Given the description of an element on the screen output the (x, y) to click on. 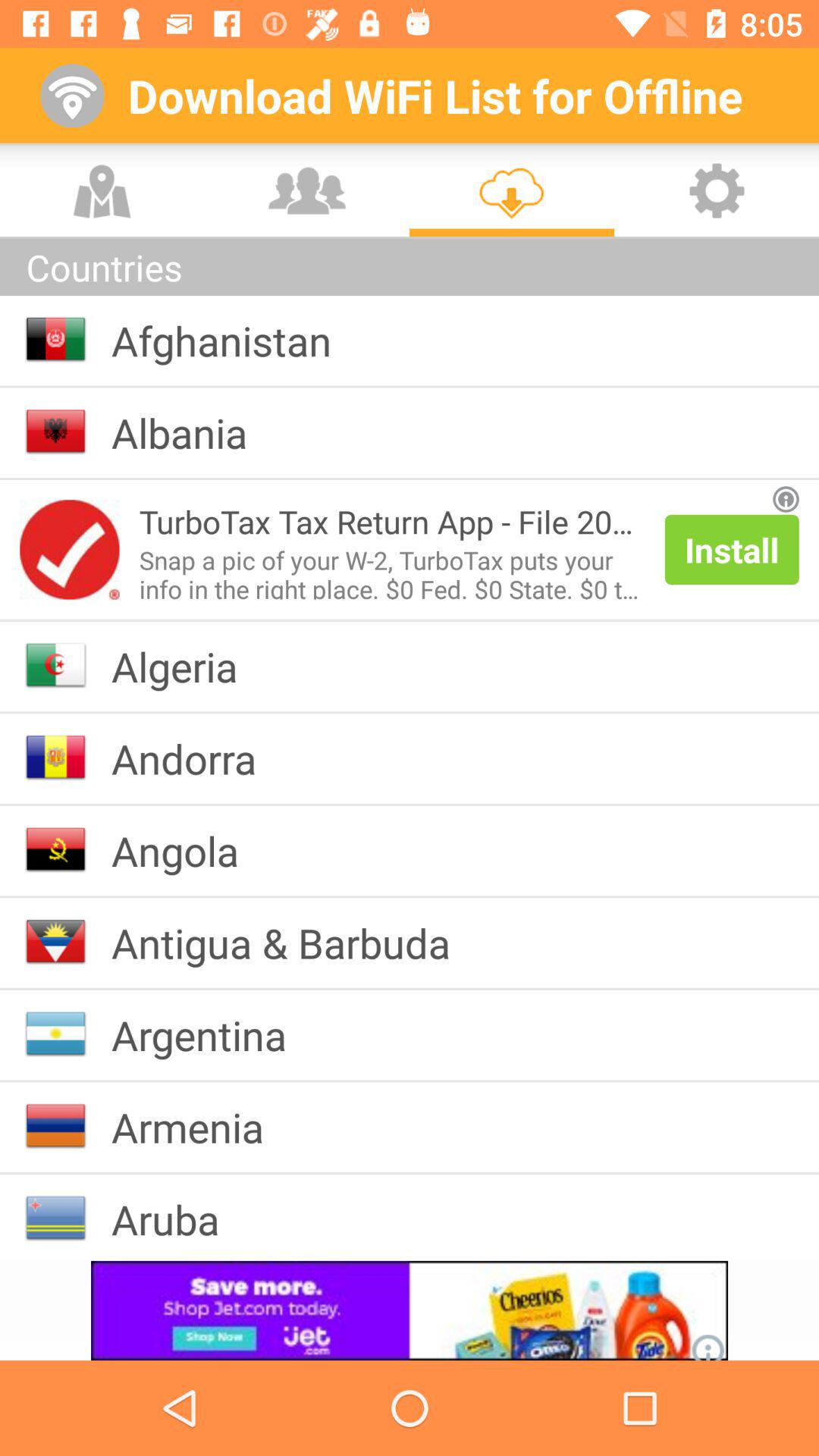
choose the item below andorra app (186, 850)
